Given the description of an element on the screen output the (x, y) to click on. 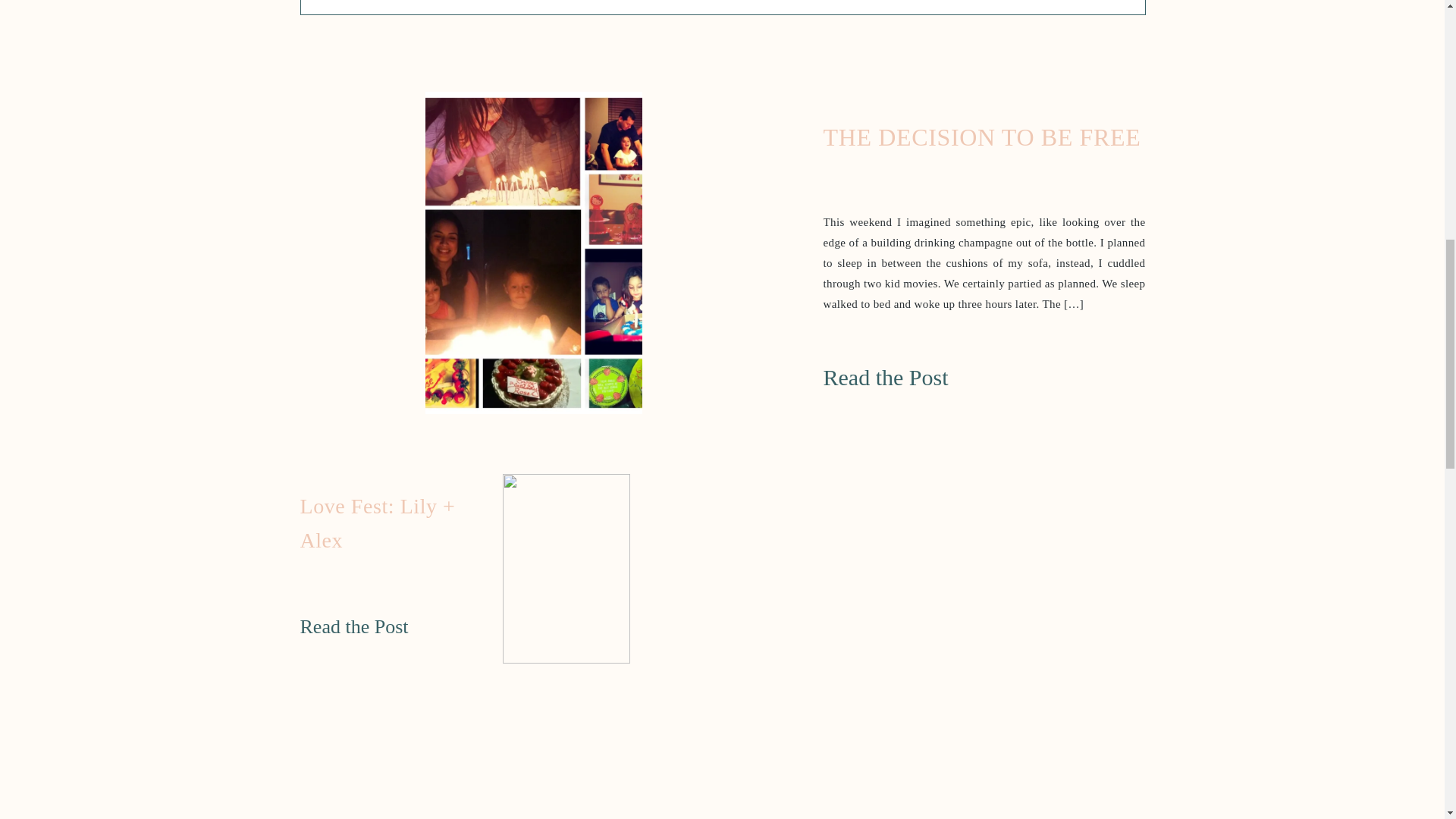
Read the Post (920, 371)
THE DECISION TO BE FREE (982, 136)
THE DECISION TO BE FREE (920, 371)
THE DECISION TO BE FREE (533, 252)
Read the Post (369, 624)
